Given the description of an element on the screen output the (x, y) to click on. 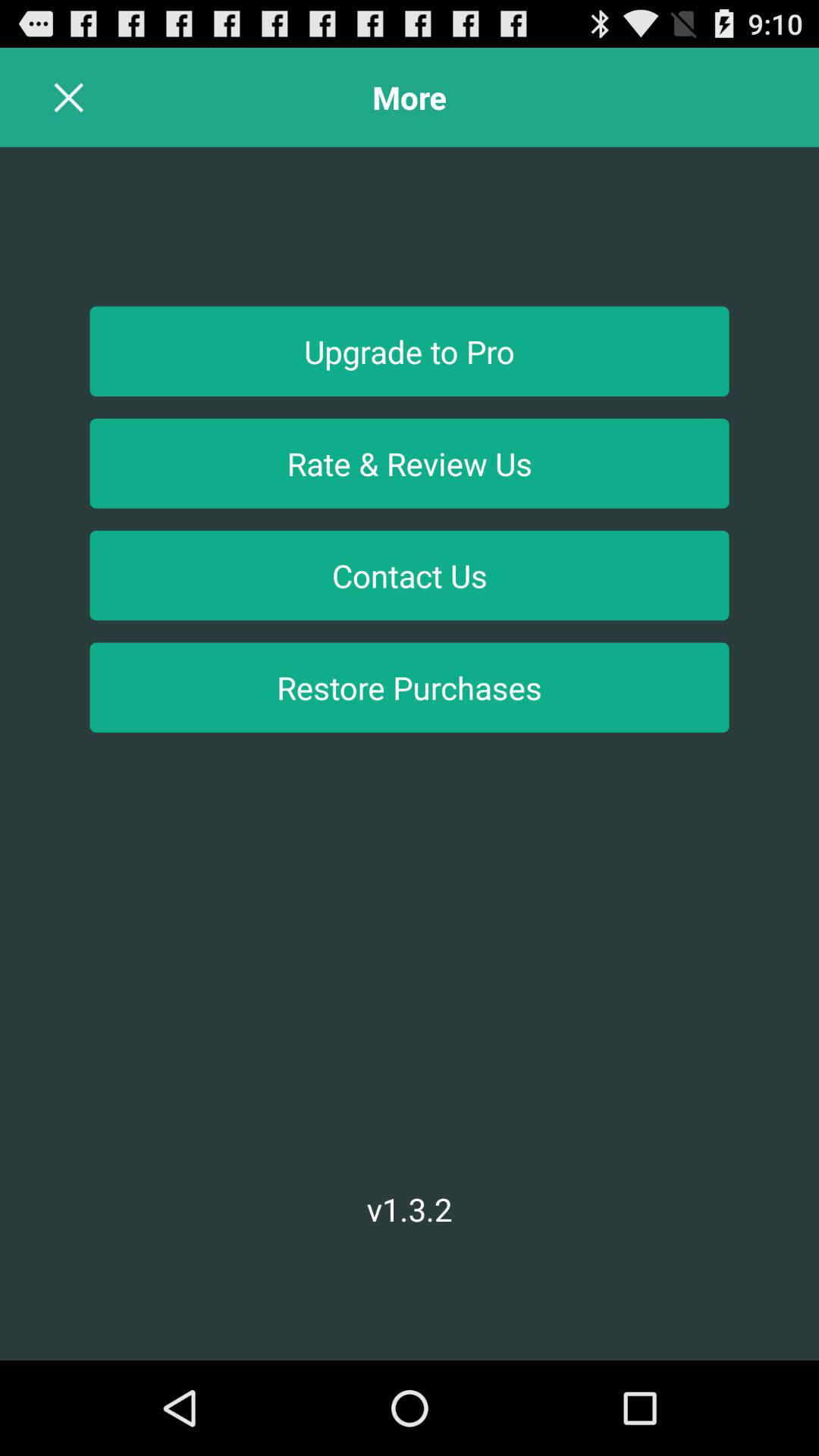
choose upgrade to pro item (409, 351)
